Given the description of an element on the screen output the (x, y) to click on. 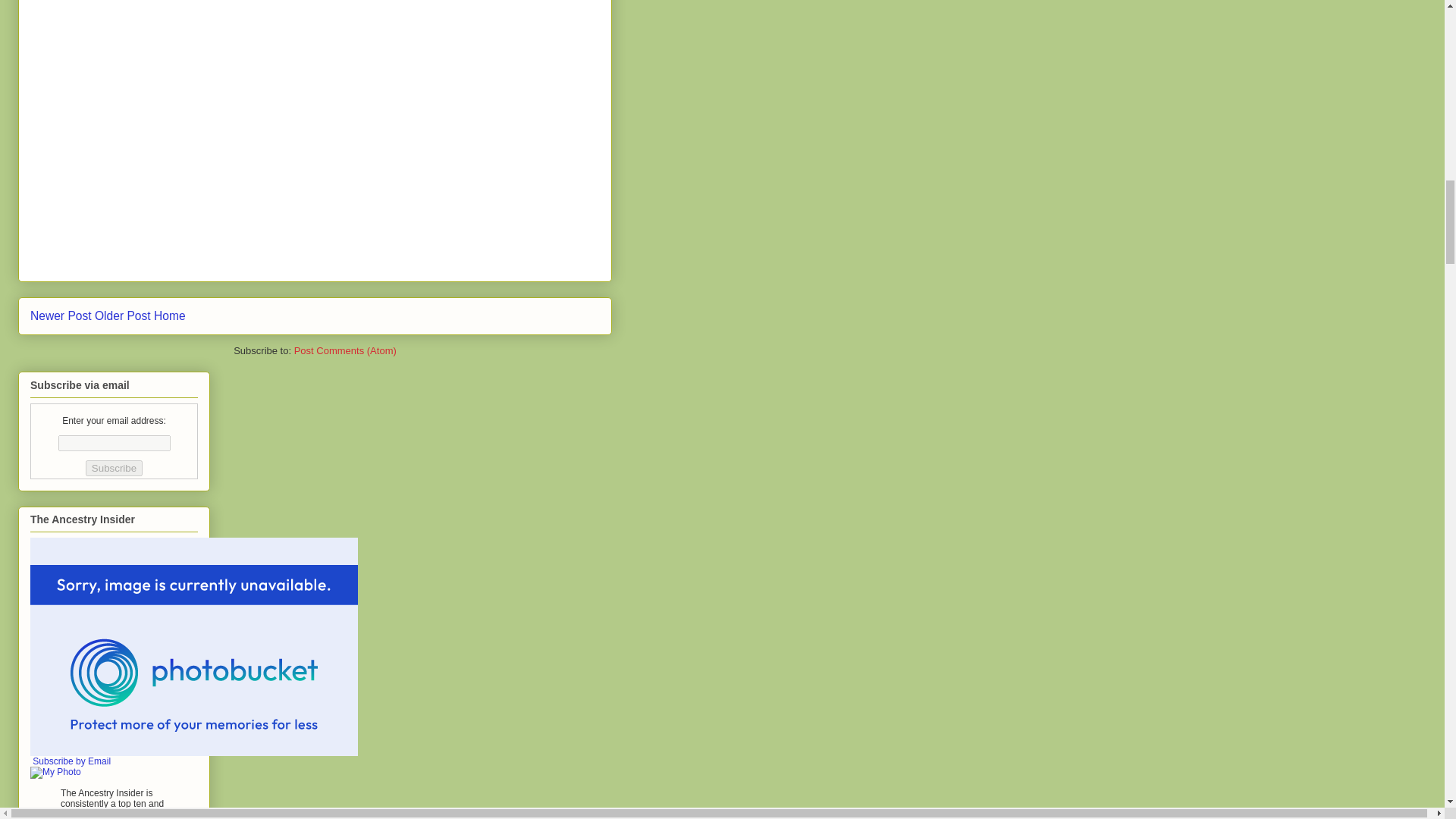
Older Post (122, 315)
Newer Post (60, 315)
Subscribe (113, 467)
